Given the description of an element on the screen output the (x, y) to click on. 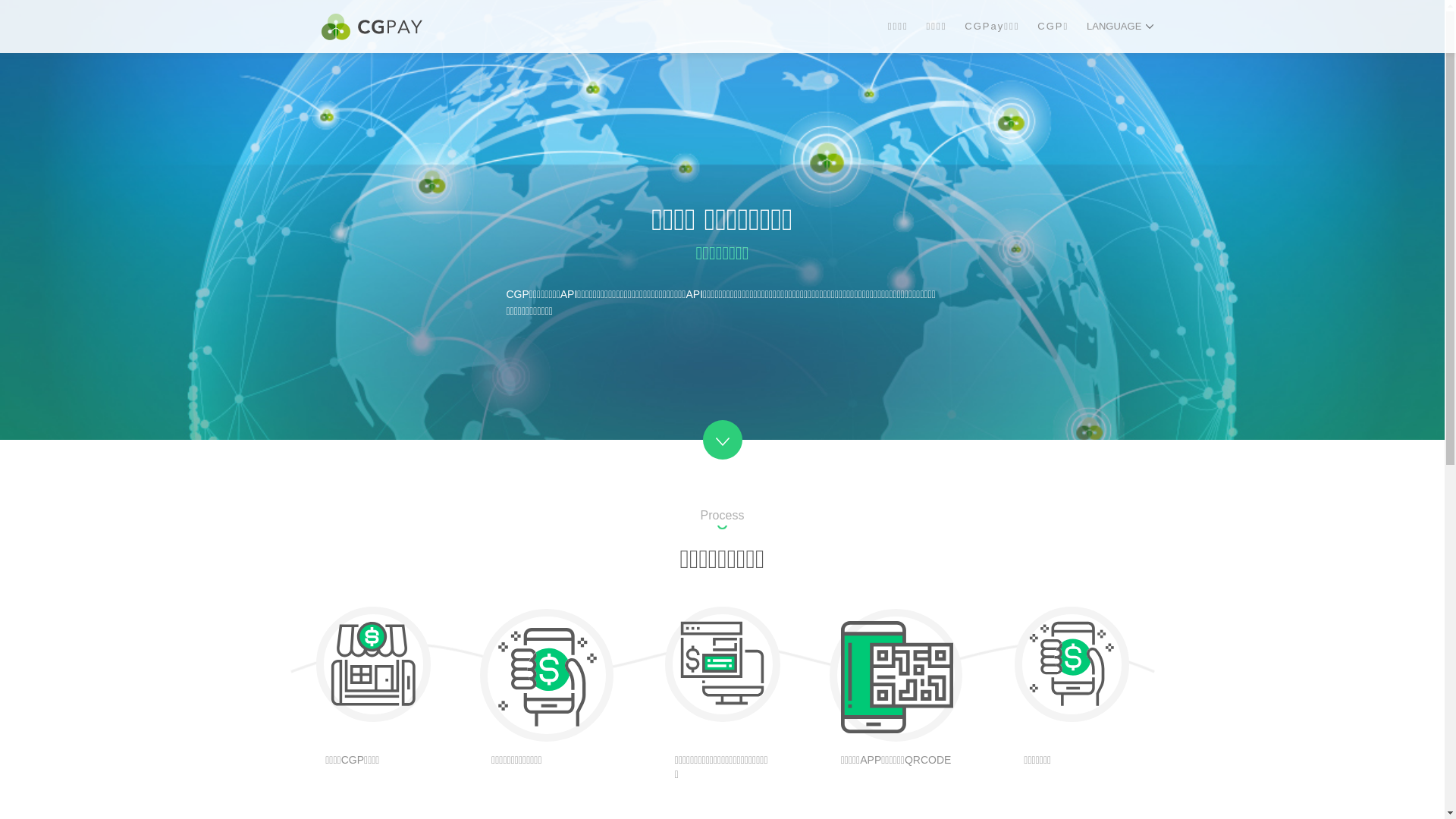
CGPAY Element type: text (371, 26)
LANGUAGE Element type: text (1119, 26)
